Given the description of an element on the screen output the (x, y) to click on. 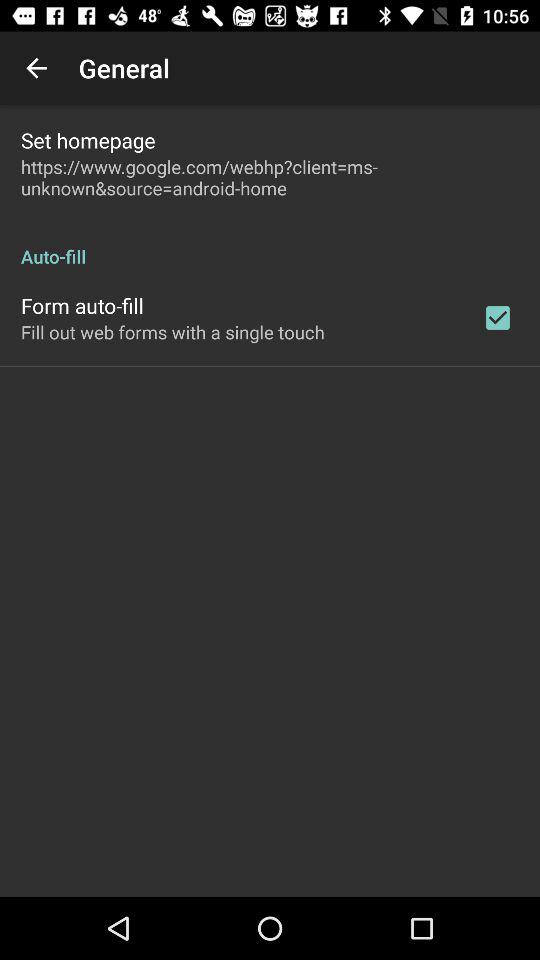
choose the item above set homepage (36, 68)
